Given the description of an element on the screen output the (x, y) to click on. 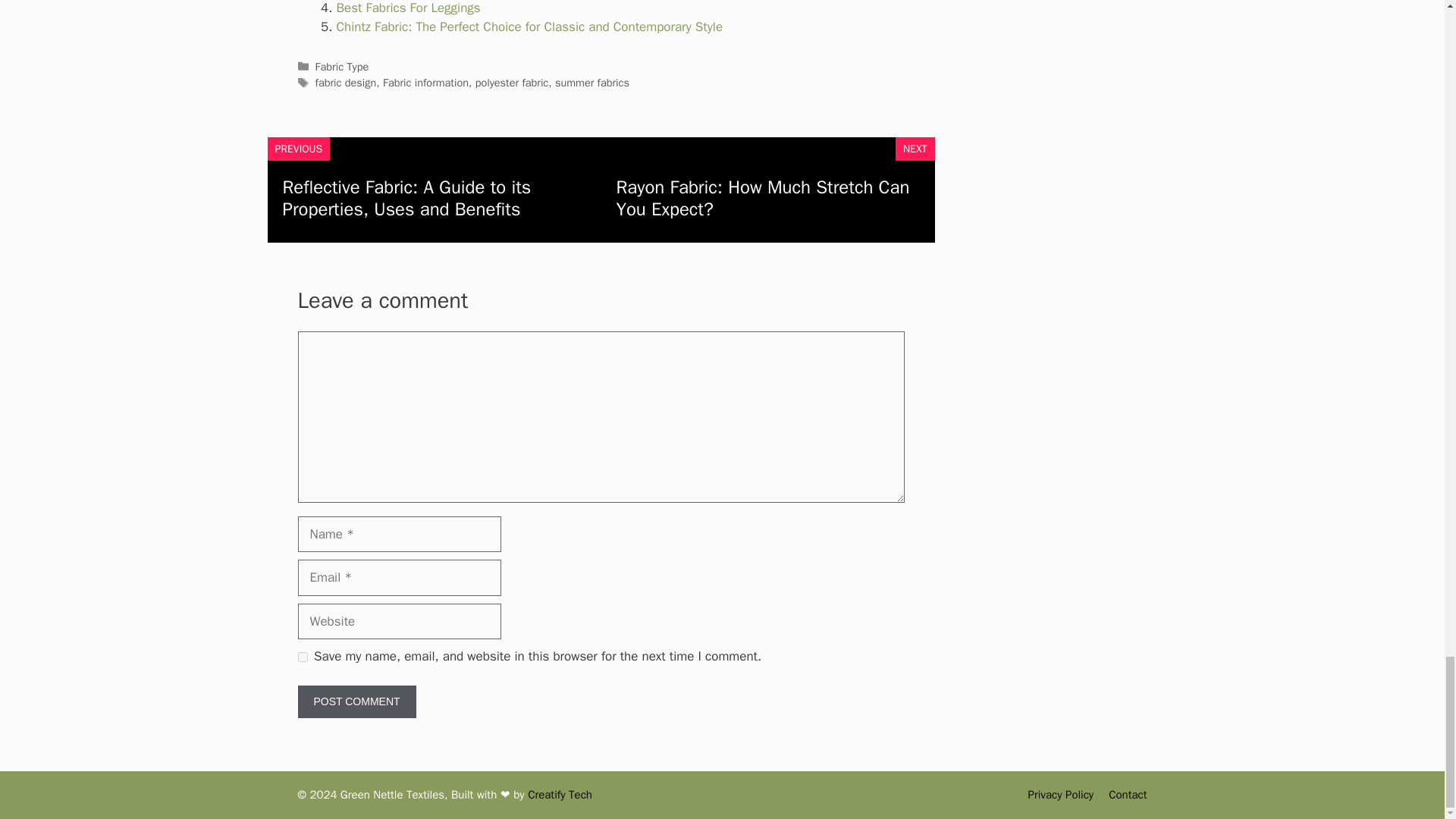
Fabric Type (342, 66)
fabric design (346, 82)
yes (302, 656)
Fabric information (425, 82)
summer fabrics (591, 82)
Best Fabrics For Leggings (408, 7)
Post Comment (355, 701)
polyester fabric (512, 82)
Post Comment (355, 701)
Best Fabrics For Leggings (408, 7)
Rayon Fabric: How Much Stretch Can You Expect? (761, 198)
